Given the description of an element on the screen output the (x, y) to click on. 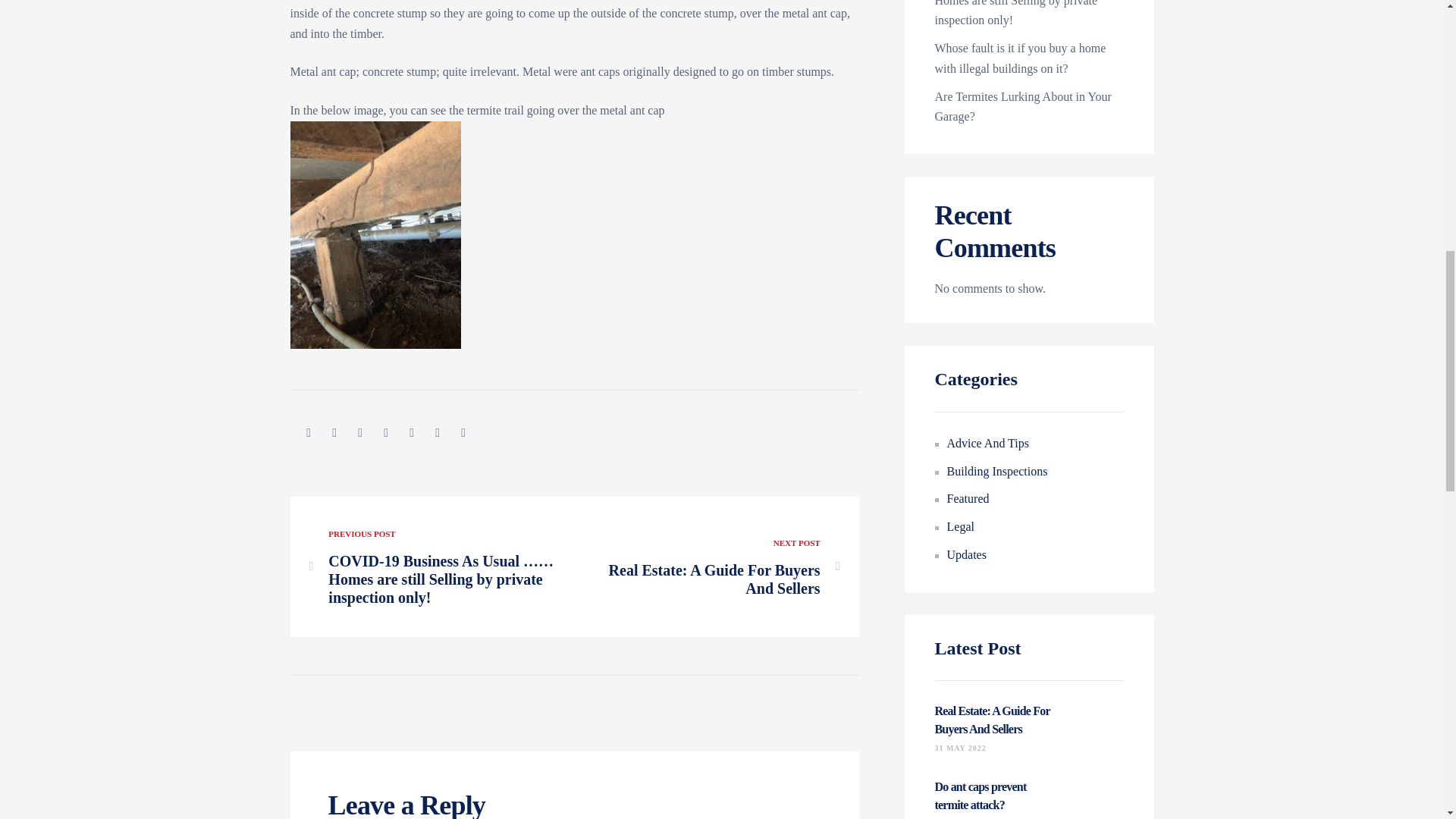
Share on LinkedIn (360, 431)
Share on Google plus (411, 431)
Share on facebook (308, 431)
Share on Tumblr (385, 431)
Share on Pinterest (437, 431)
Email to a Friend (462, 431)
Share on Twitter (334, 431)
